Given the description of an element on the screen output the (x, y) to click on. 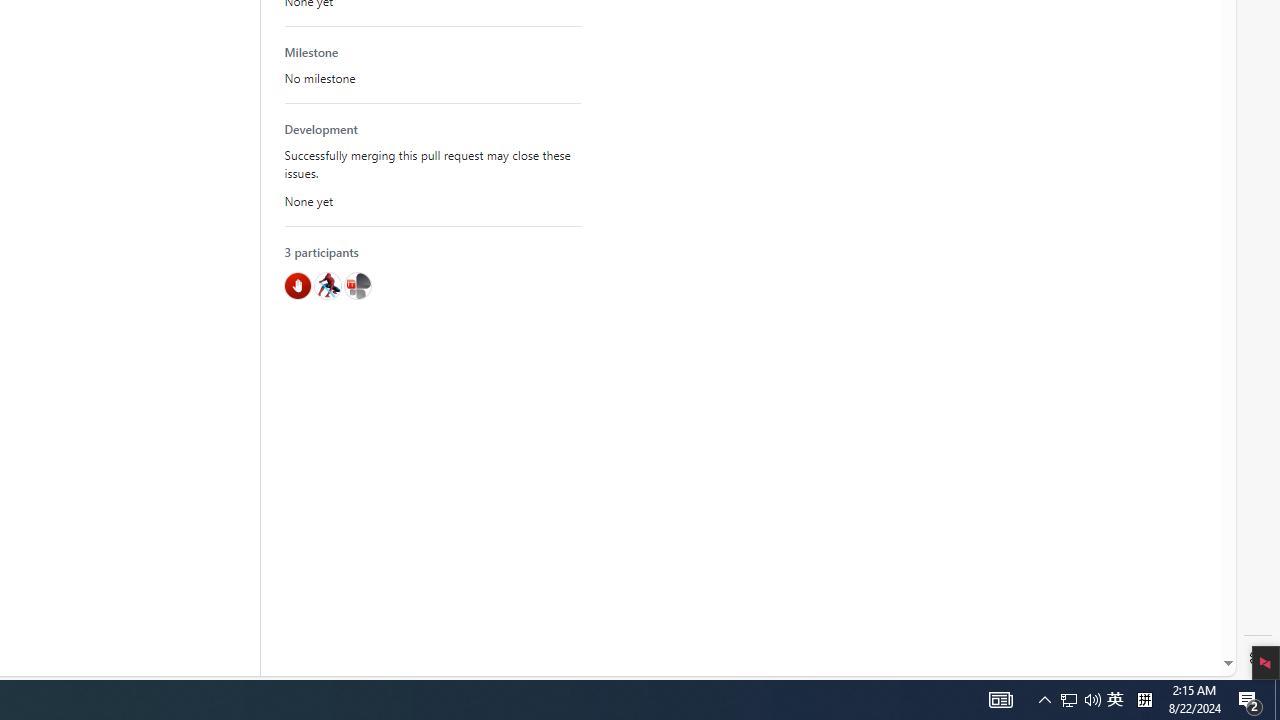
@hawkeye116477 (326, 285)
@MajkiIT (357, 285)
@hawkeye116477 (326, 285)
@MajkiIT (357, 285)
@blocker999 (297, 285)
@blocker999 (297, 285)
